Given the description of an element on the screen output the (x, y) to click on. 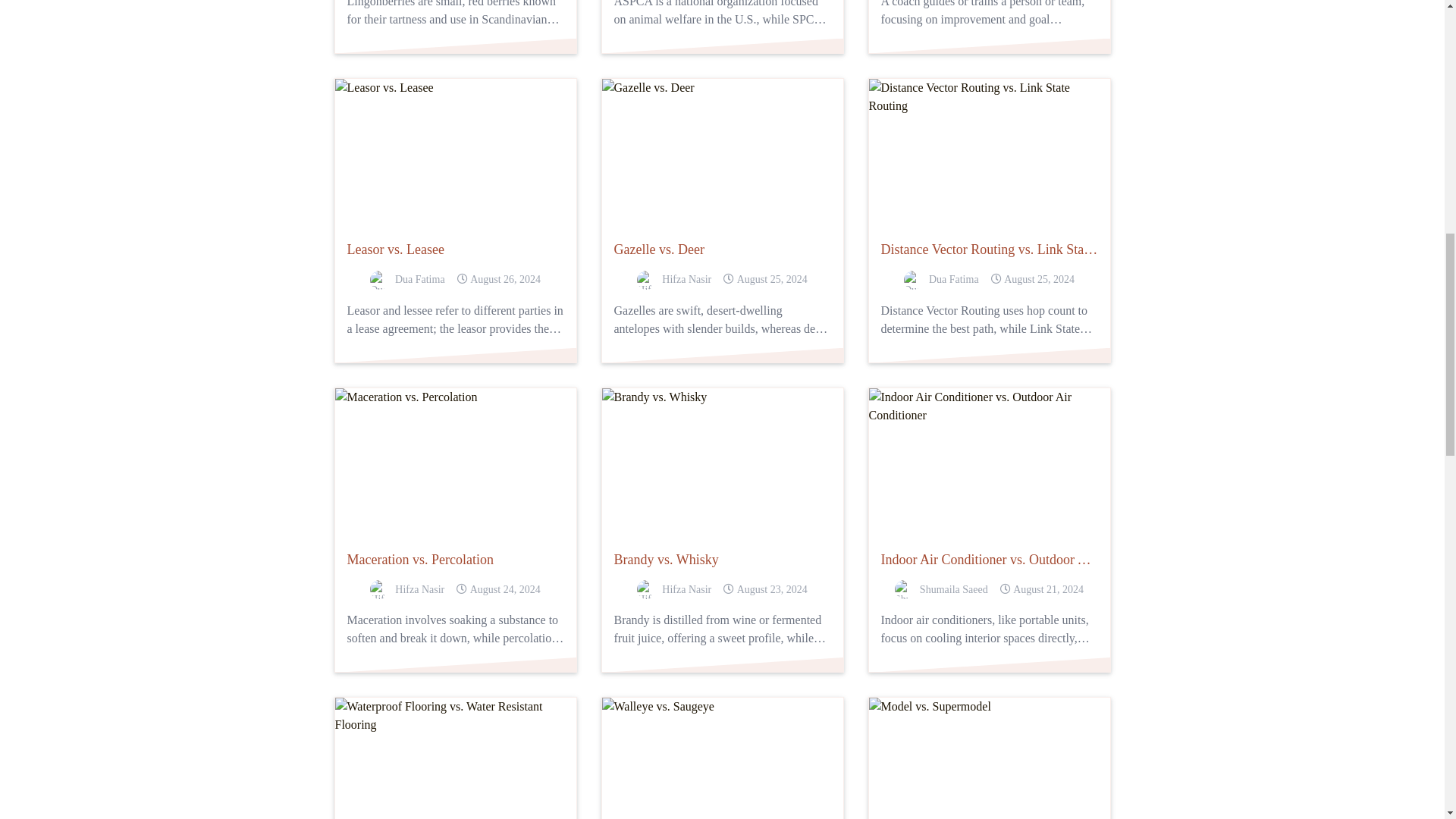
Brandy vs. Whisky (722, 559)
Leasor vs. Leasee (455, 249)
Gazelle vs. Deer (722, 249)
Indoor Air Conditioner vs. Outdoor Air Conditioner (989, 559)
Hifza Nasir (674, 280)
Dua Fatima (407, 280)
Hifza Nasir (674, 588)
Distance Vector Routing vs. Link State Routing (989, 249)
Dua Fatima (941, 280)
Maceration vs. Percolation (455, 559)
